Given the description of an element on the screen output the (x, y) to click on. 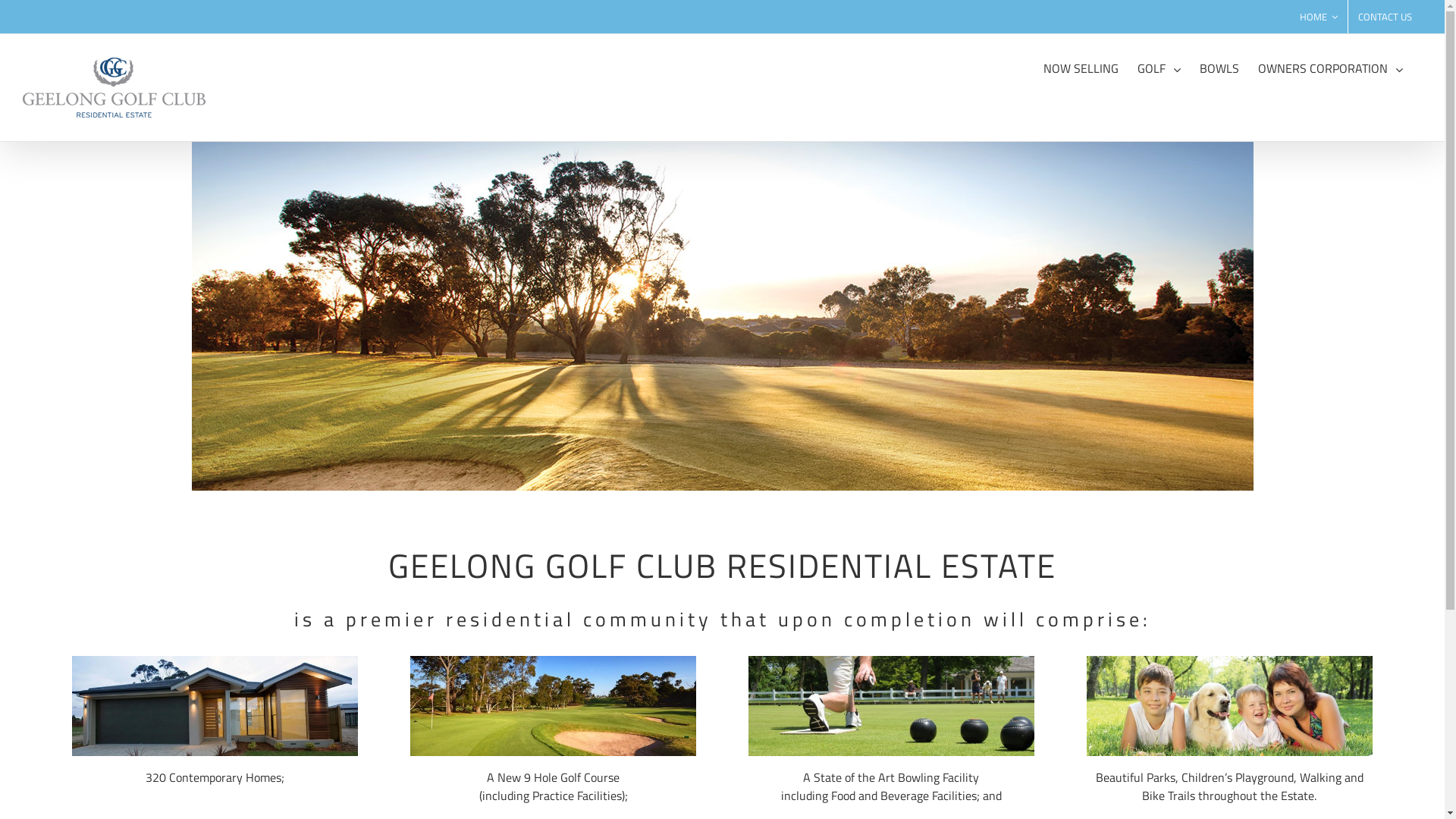
GOLF Element type: text (1158, 67)
BOWLS Element type: text (1219, 67)
CONTACT US Element type: text (1384, 16)
HOME Element type: text (1318, 16)
OWNERS CORPORATION Element type: text (1330, 67)
GGC_Course1_1400x460 Element type: hover (721, 315)
NOW SELLING Element type: text (1080, 67)
